Given the description of an element on the screen output the (x, y) to click on. 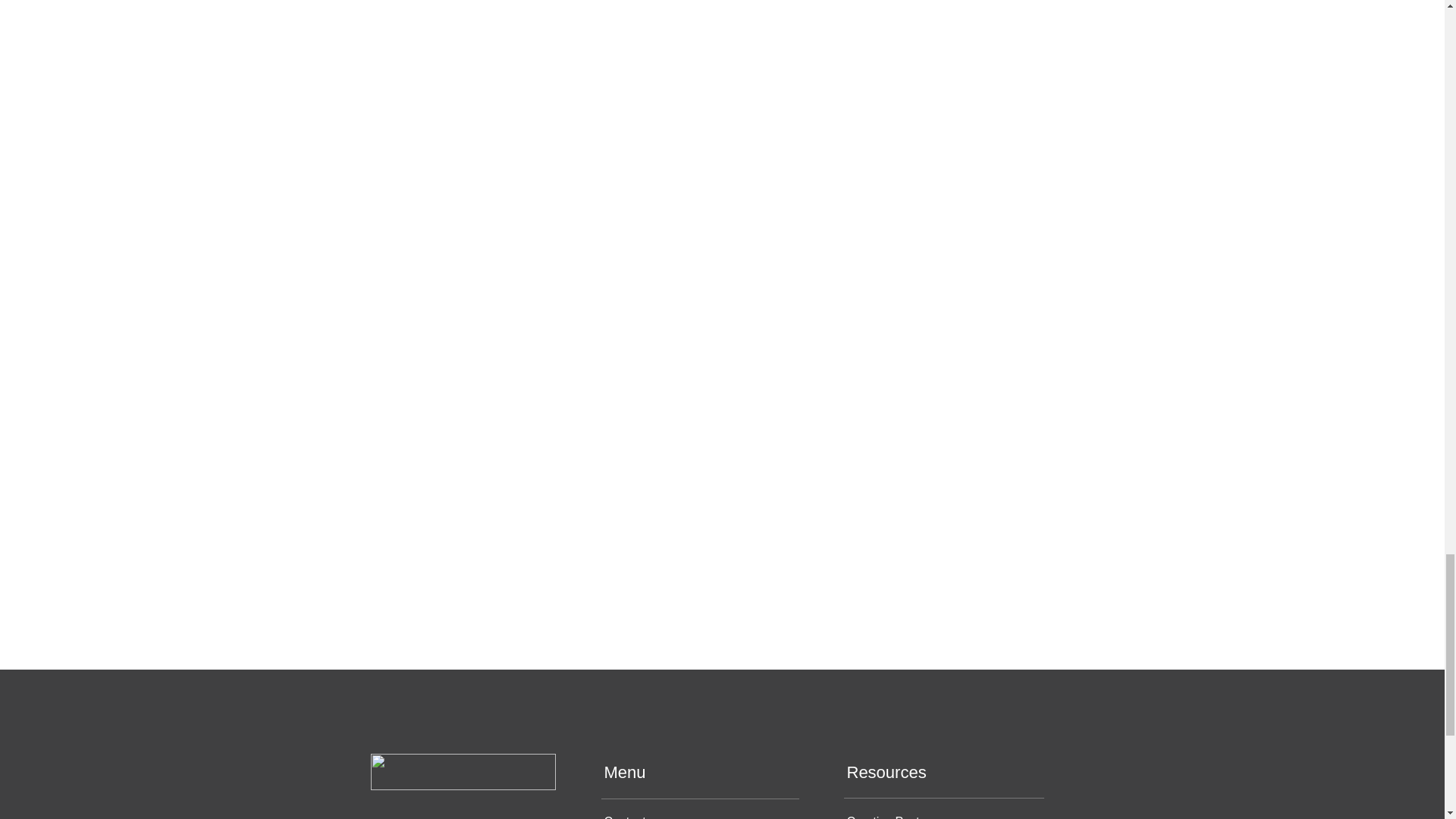
Creative Pastors (890, 816)
Contact (624, 816)
